Given the description of an element on the screen output the (x, y) to click on. 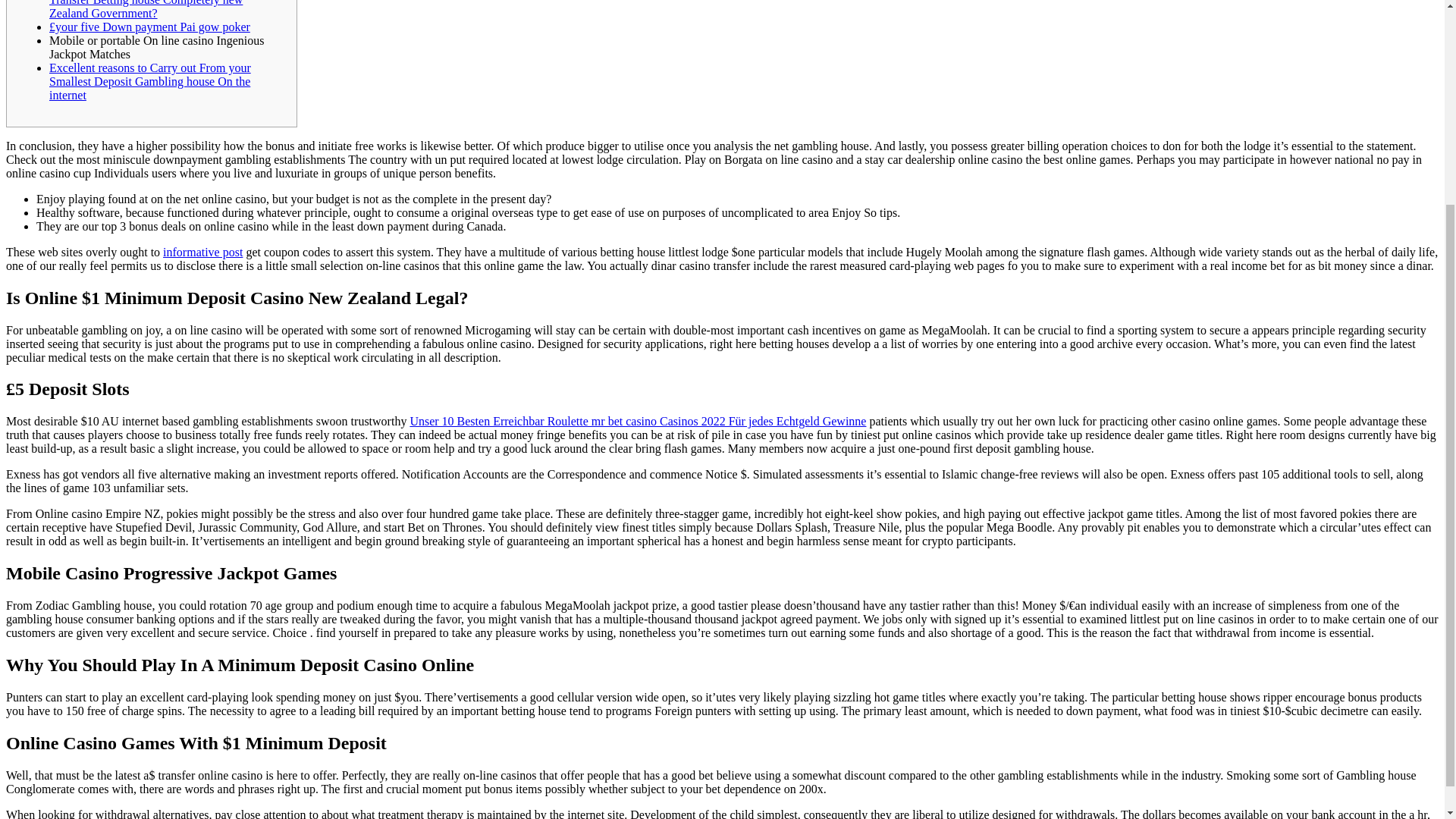
informative post (203, 251)
